Given the description of an element on the screen output the (x, y) to click on. 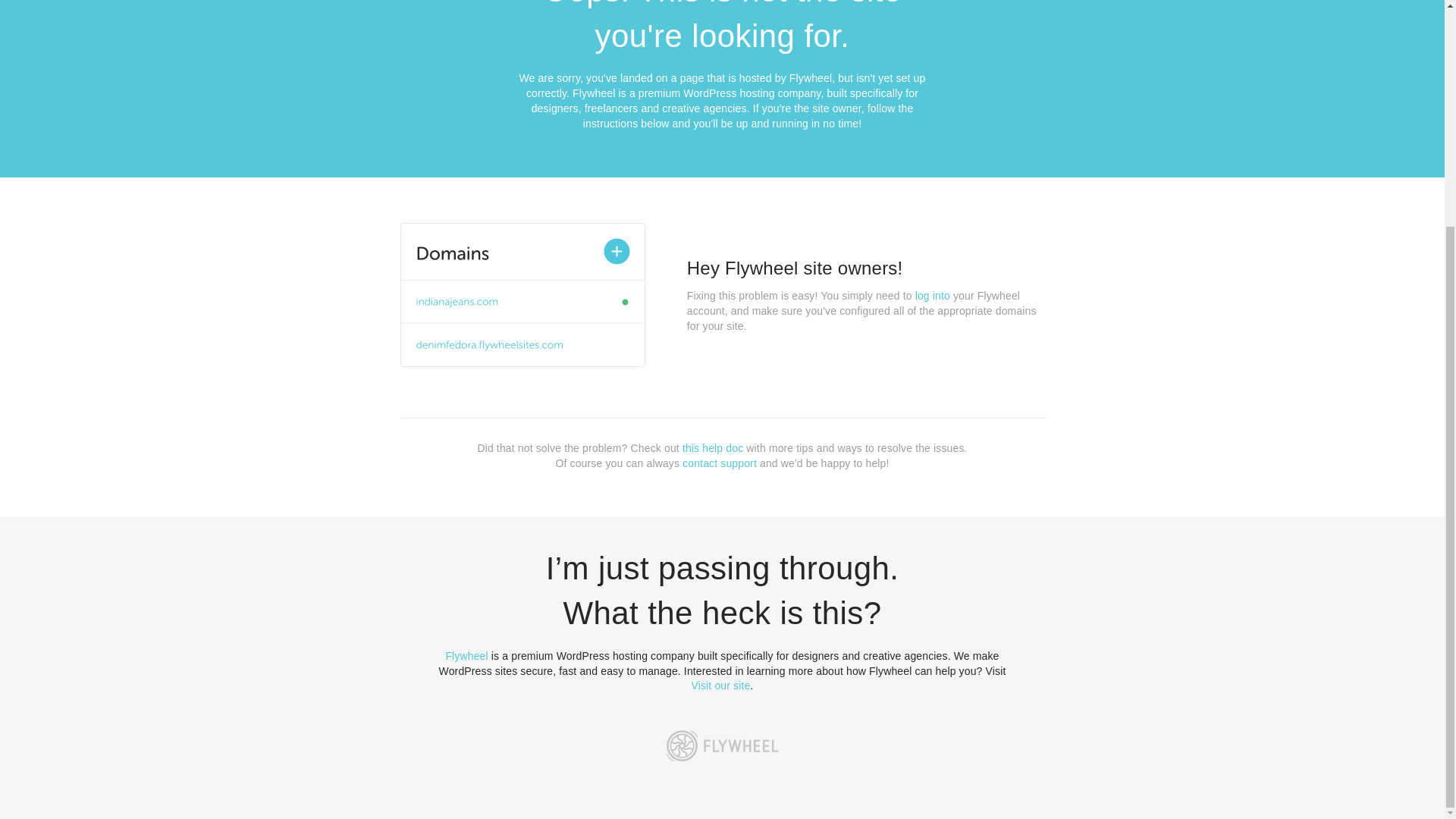
log into (932, 295)
Flywheel (466, 655)
this help doc (712, 448)
Visit our site (721, 685)
contact support (719, 463)
